Given the description of an element on the screen output the (x, y) to click on. 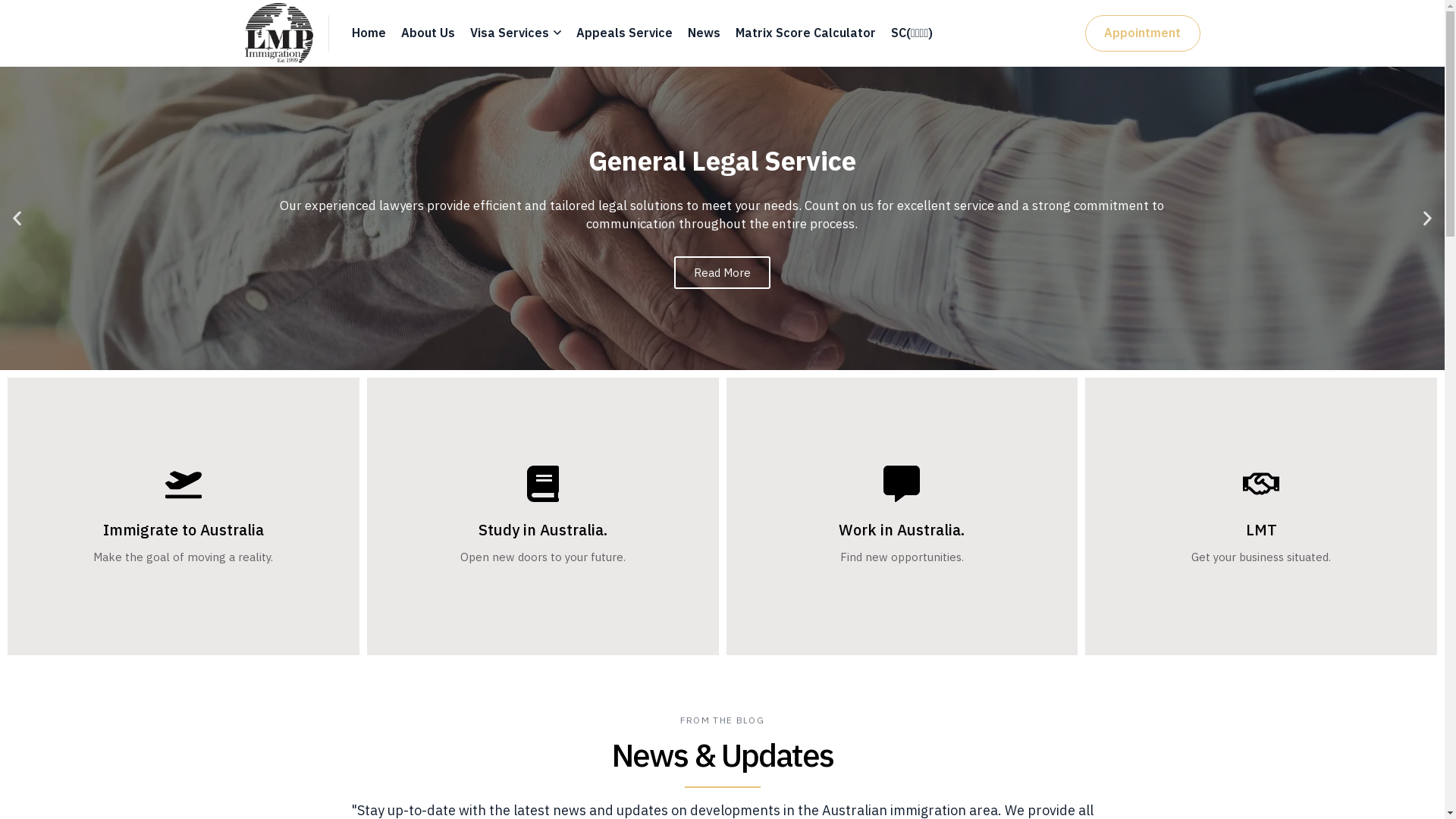
Work in Australia.
Find new opportunities. Element type: text (902, 516)
News Element type: text (704, 32)
Appointment Element type: text (1142, 33)
Home Element type: text (368, 32)
Study in Australia.
Open new doors to your future. Element type: text (542, 516)
LMT
Get your business situated. Element type: text (1261, 516)
Matrix Score Calculator Element type: text (805, 32)
Appeals Service Element type: text (624, 32)
Immigrate to Australia
Make the goal of moving a reality. Element type: text (183, 516)
Visa Services Element type: text (515, 32)
Read More Element type: text (722, 272)
About Us Element type: text (426, 32)
